Given the description of an element on the screen output the (x, y) to click on. 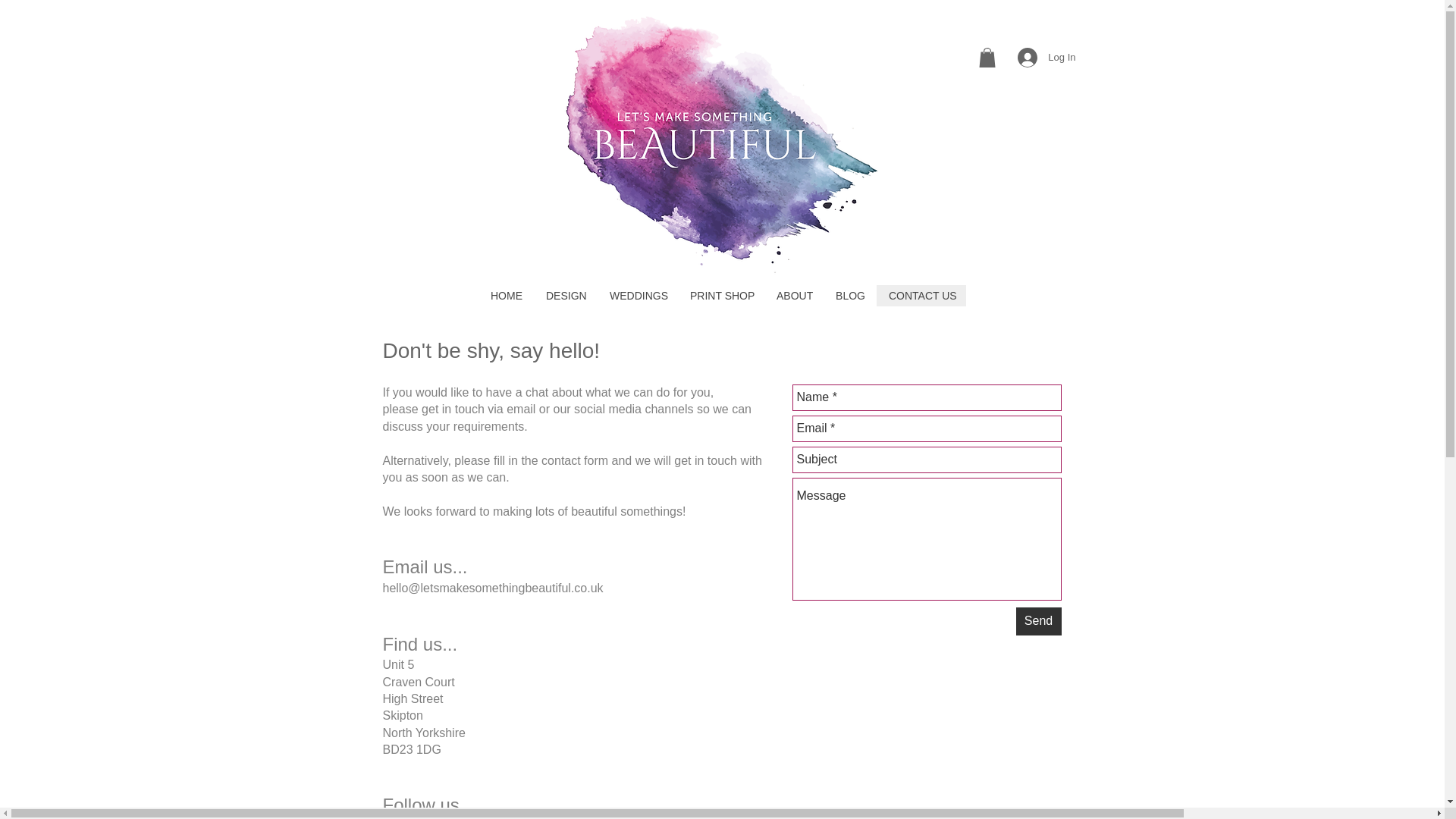
ABOUT (794, 295)
CONTACT US (921, 295)
PRINT SHOP (721, 295)
WEDDINGS (637, 295)
DESIGN (565, 295)
HOME (506, 295)
BLOG (850, 295)
Send (1038, 621)
Log In (1046, 57)
